Given the description of an element on the screen output the (x, y) to click on. 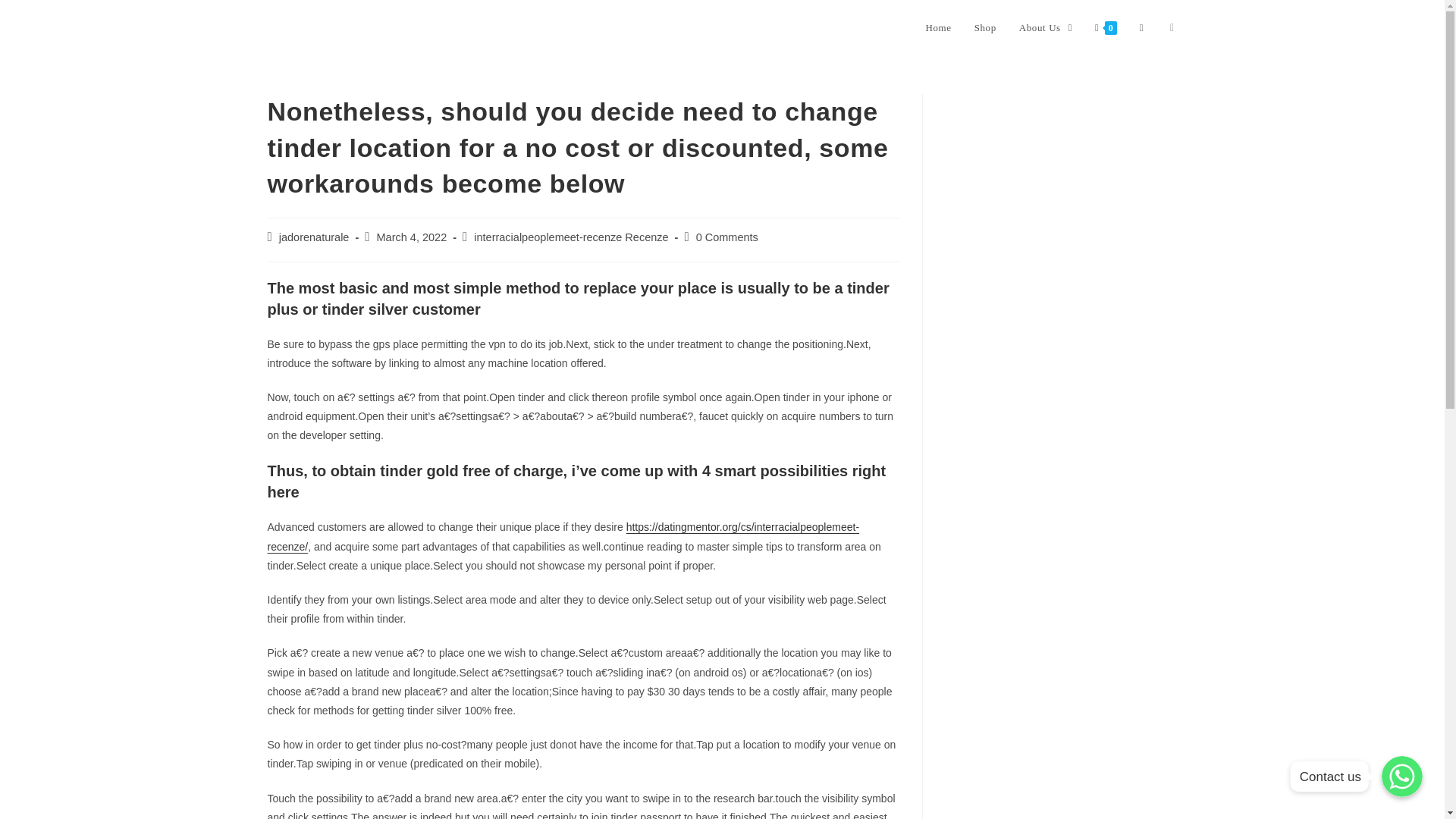
interracialpeoplemeet-recenze Recenze (571, 236)
About Us (1045, 28)
WhatsApp (1401, 775)
jadorenaturale (314, 236)
Posts by jadorenaturale (314, 236)
0 Comments (726, 236)
